Given the description of an element on the screen output the (x, y) to click on. 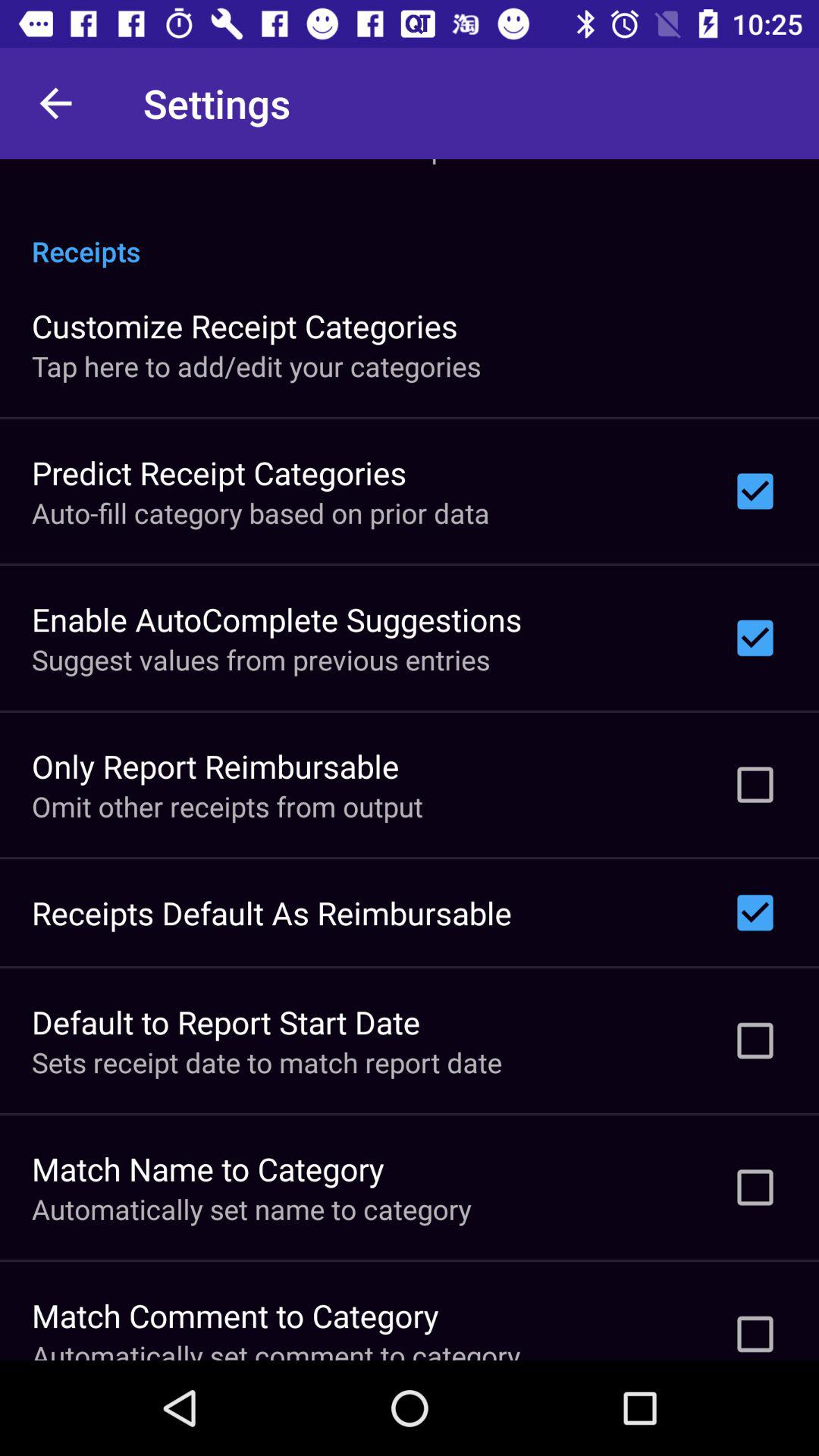
tap item above only report reimbursable item (260, 659)
